Given the description of an element on the screen output the (x, y) to click on. 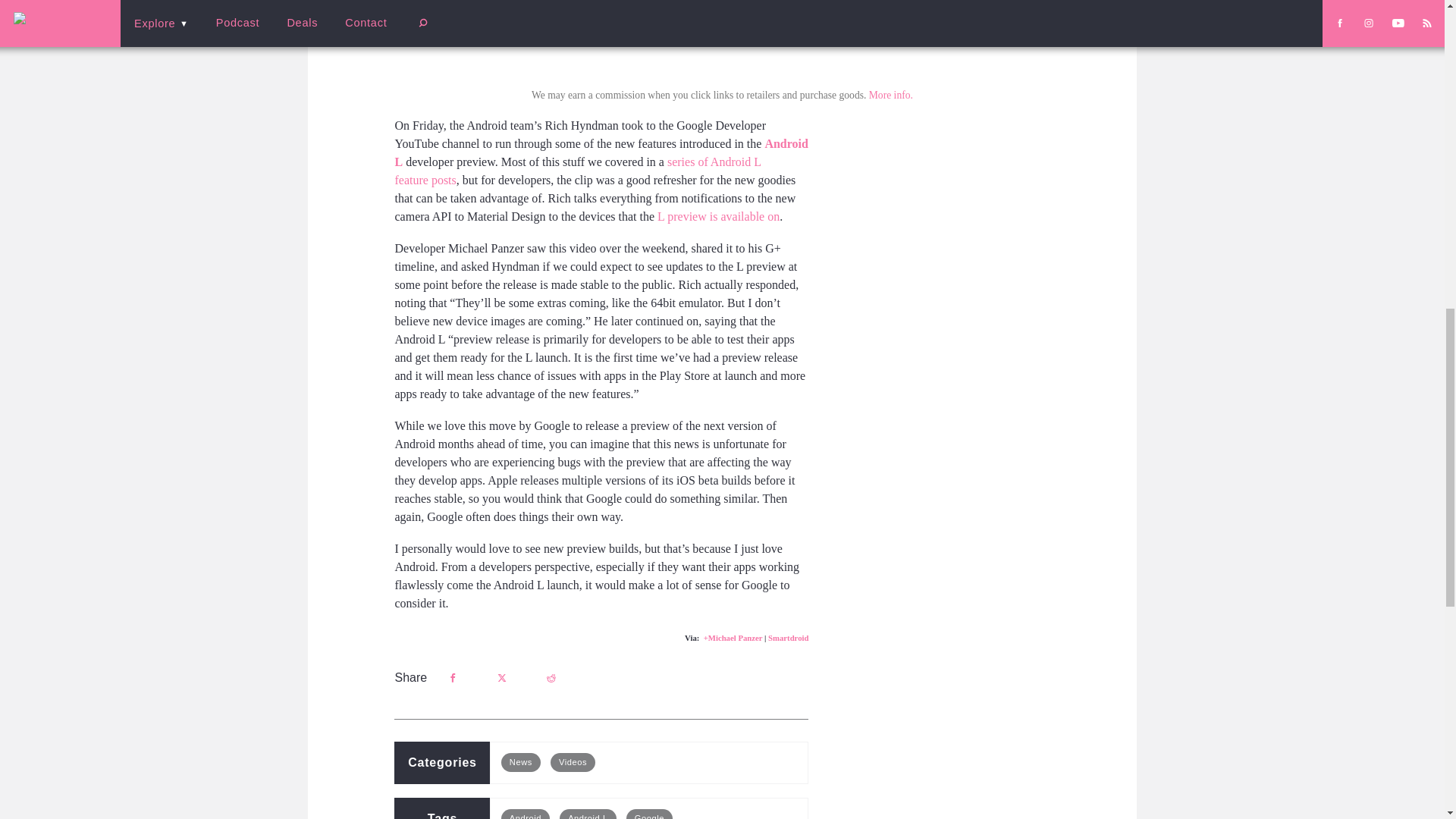
DevBytes: Android L Developer Preview (721, 33)
